Given the description of an element on the screen output the (x, y) to click on. 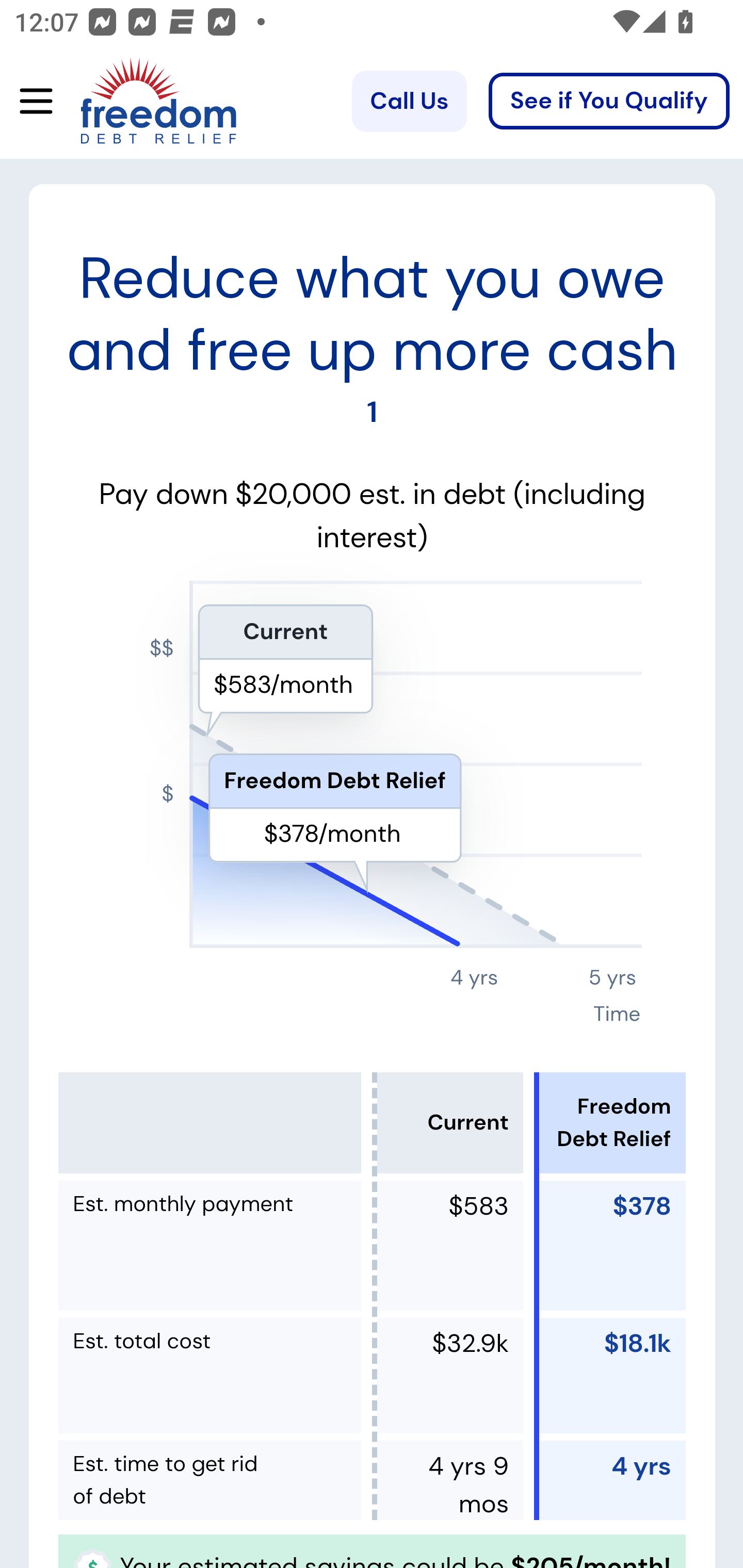
Freedom Debt Relief (130, 101)
Call Us (408, 101)
See if You Qualify (609, 101)
menu toggle (28, 101)
